Given the description of an element on the screen output the (x, y) to click on. 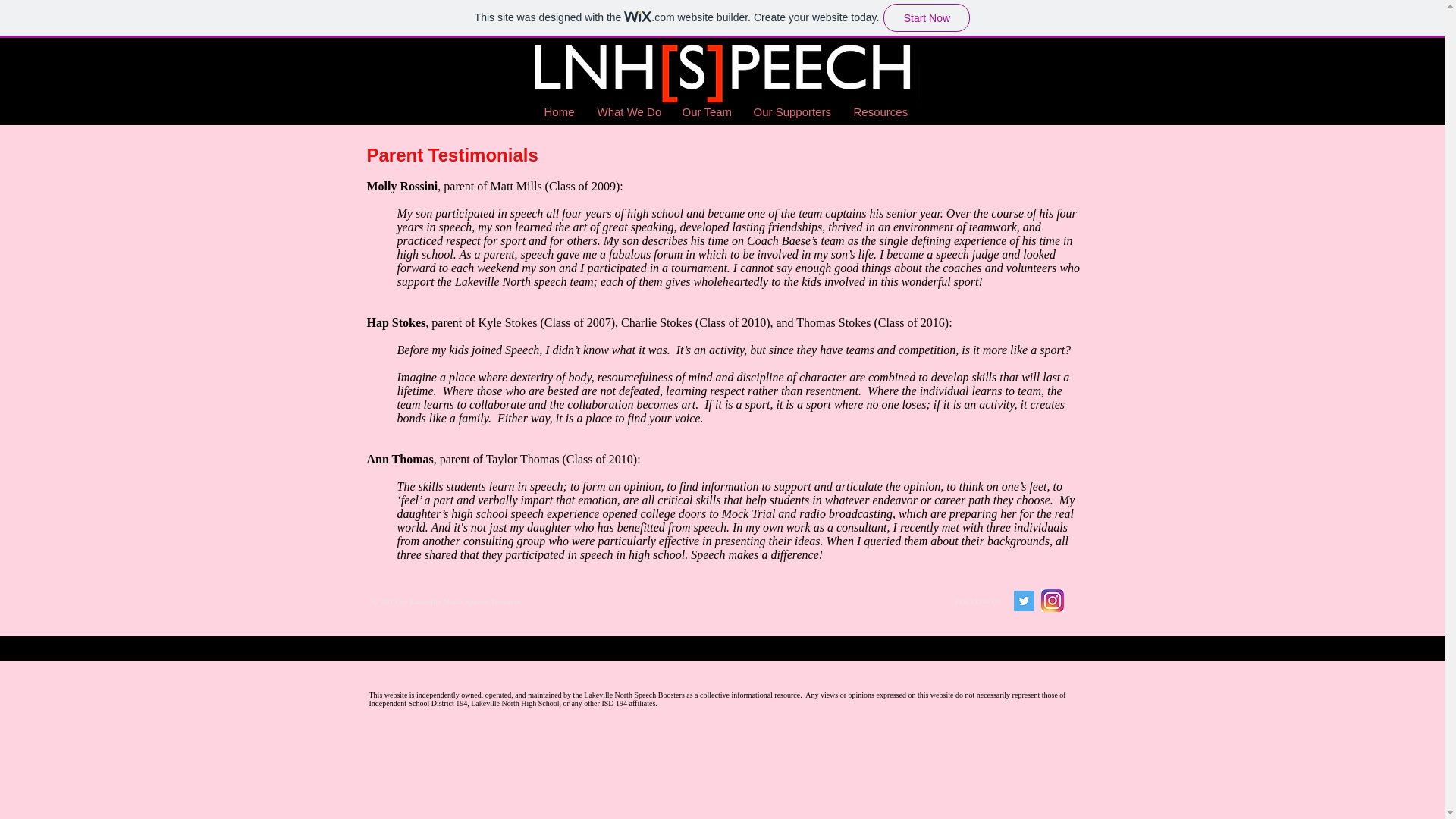
Our Team (705, 111)
What We Do (627, 111)
Resources (879, 111)
Our Supporters (791, 111)
Home (558, 111)
